Given the description of an element on the screen output the (x, y) to click on. 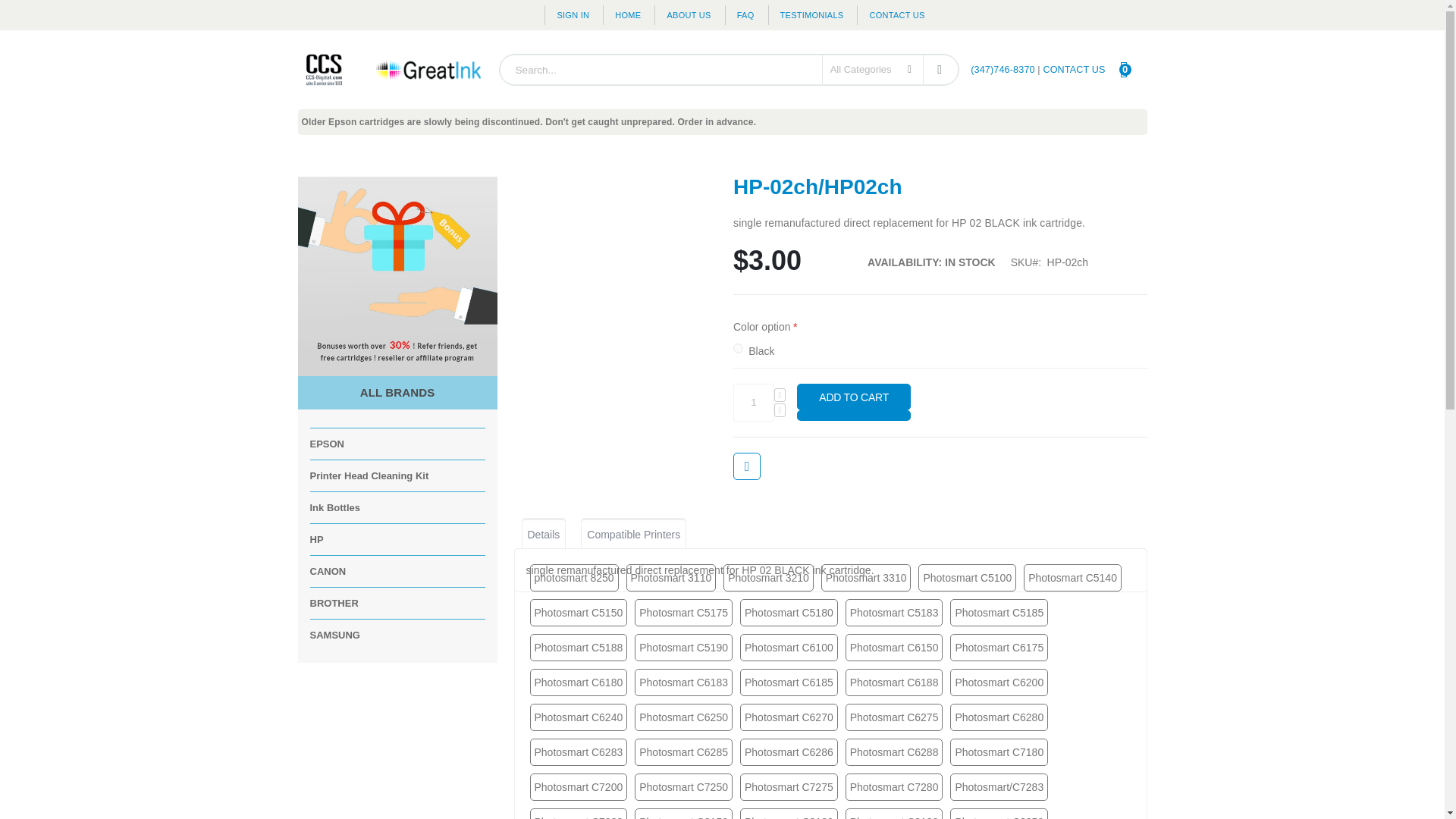
CONTACT US (1073, 69)
SIGN IN (571, 14)
ABOUT US (687, 14)
Printer Head Cleaning Kit (1130, 69)
Search (368, 475)
FAQ (938, 69)
Add to Cart (745, 14)
EPSON (853, 397)
1 (325, 443)
